Given the description of an element on the screen output the (x, y) to click on. 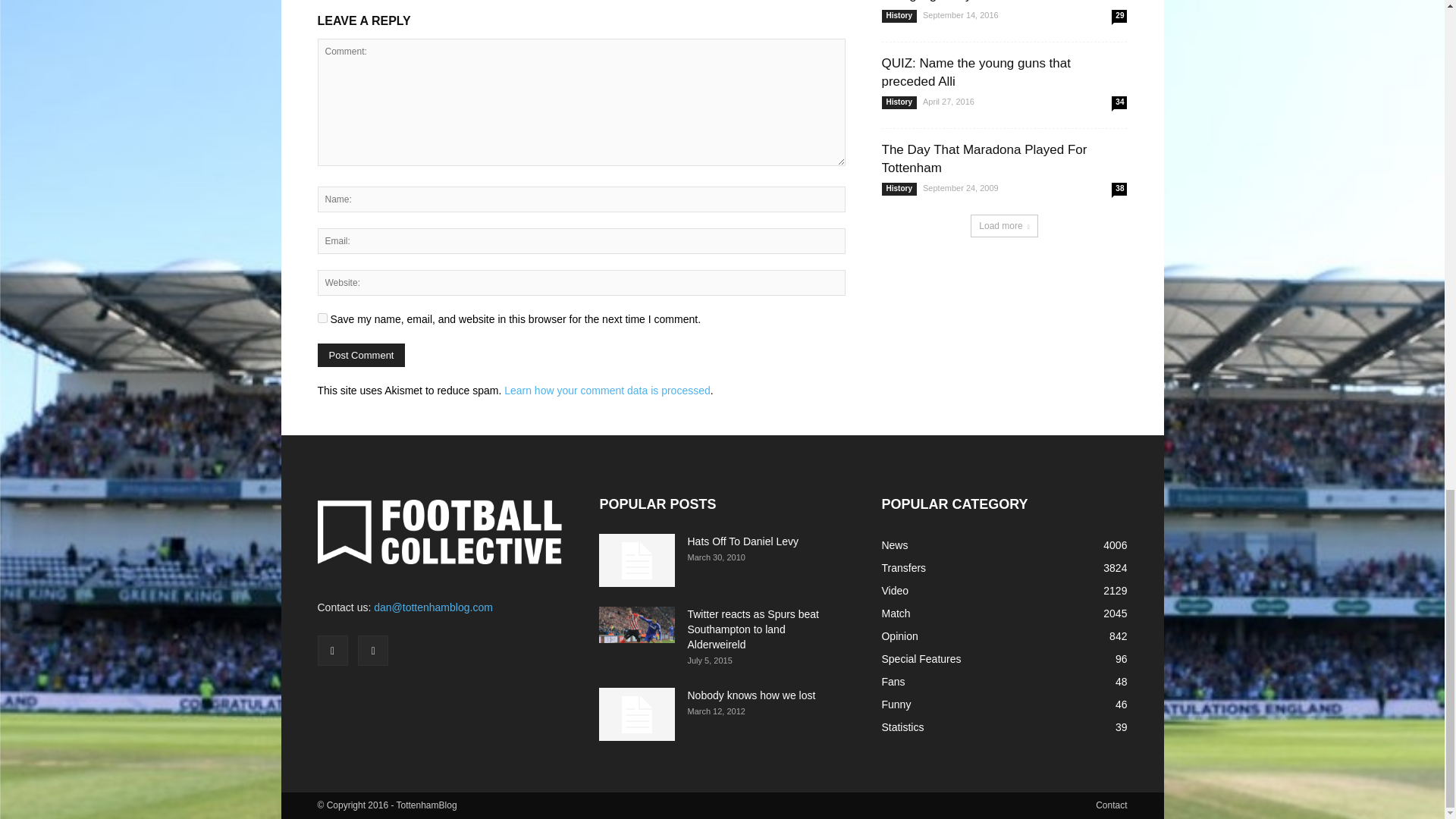
yes (321, 317)
QUIZ: Name the young guns that preceded Alli (975, 72)
Post Comment (360, 354)
